Given the description of an element on the screen output the (x, y) to click on. 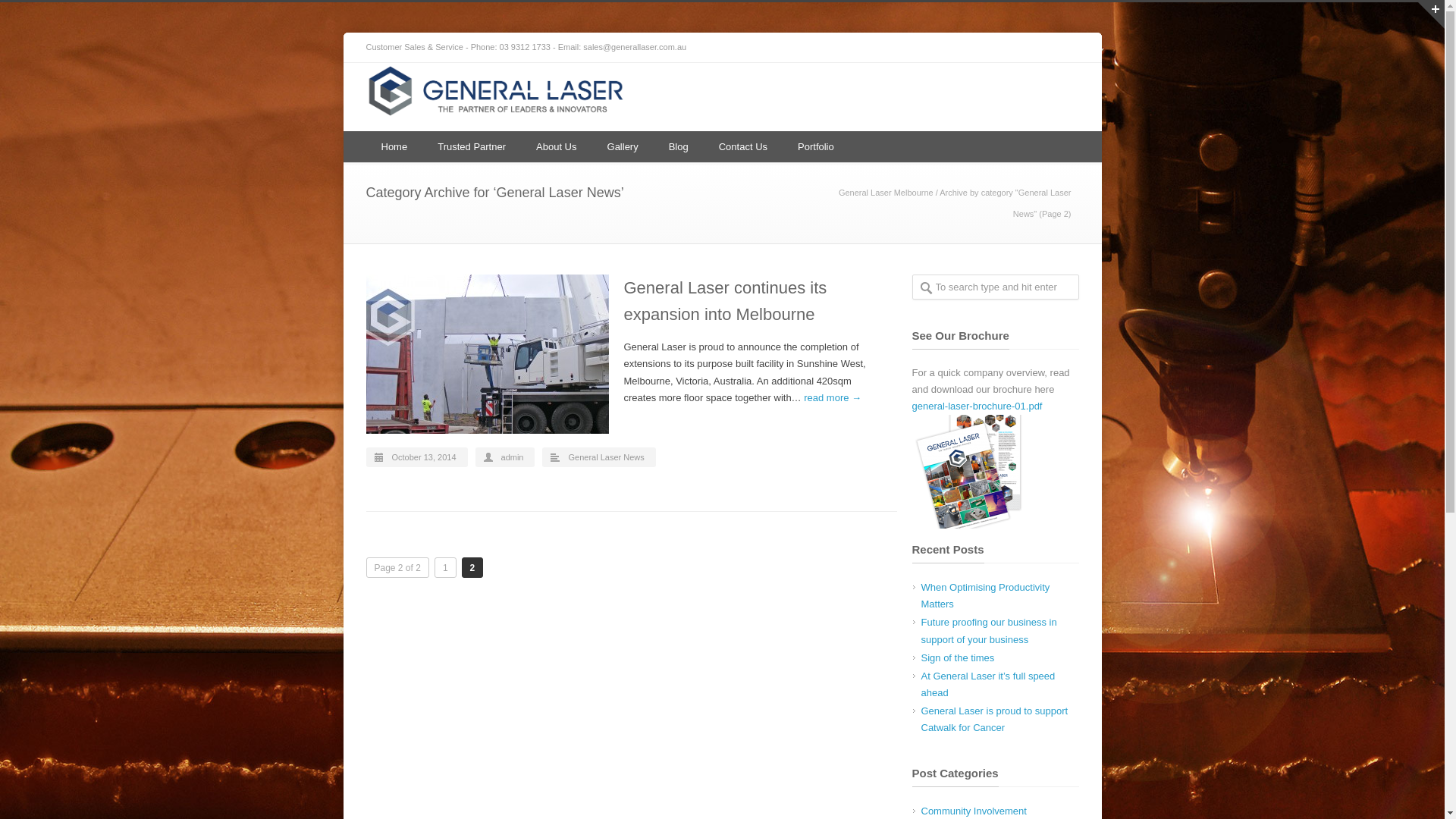
admin Element type: text (512, 456)
Home Element type: text (393, 146)
When Optimising Productivity Matters Element type: text (984, 595)
Blog Element type: text (678, 146)
General Laser is proud to support Catwalk for Cancer Element type: text (993, 719)
Trusted Partner Element type: text (471, 146)
Gallery Element type: text (622, 146)
Sign of the times Element type: text (957, 657)
About Us Element type: text (555, 146)
Contact Us Element type: text (742, 146)
General Laser News Element type: text (605, 456)
Portfolio Element type: text (815, 146)
Community Involvement Element type: text (973, 810)
General Laser continues its expansion into Melbourne Element type: text (724, 300)
general-laser-brochure-01.pdf Element type: text (976, 405)
Future proofing our business in support of your business Element type: text (988, 630)
General Laser Melbourne Element type: text (885, 192)
1 Element type: text (445, 567)
